Given the description of an element on the screen output the (x, y) to click on. 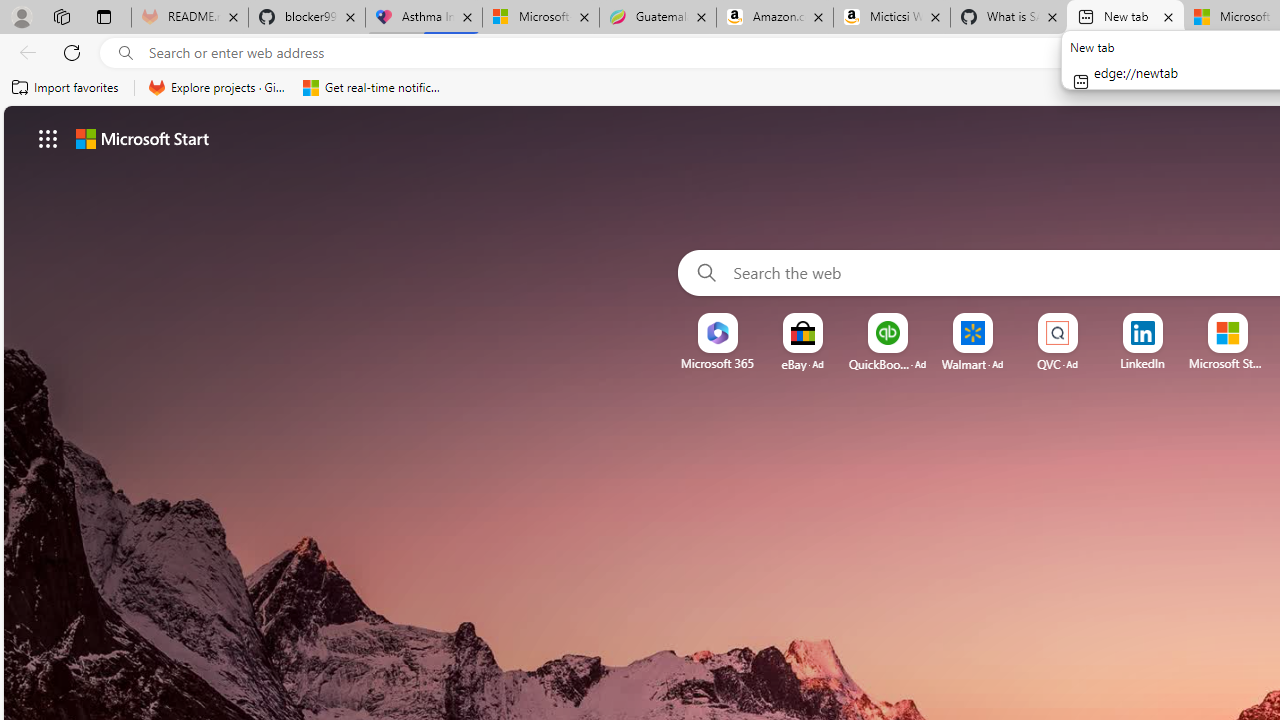
Microsoft-Report a Concern to Bing (540, 17)
To get missing image descriptions, open the context menu. (717, 333)
